Given the description of an element on the screen output the (x, y) to click on. 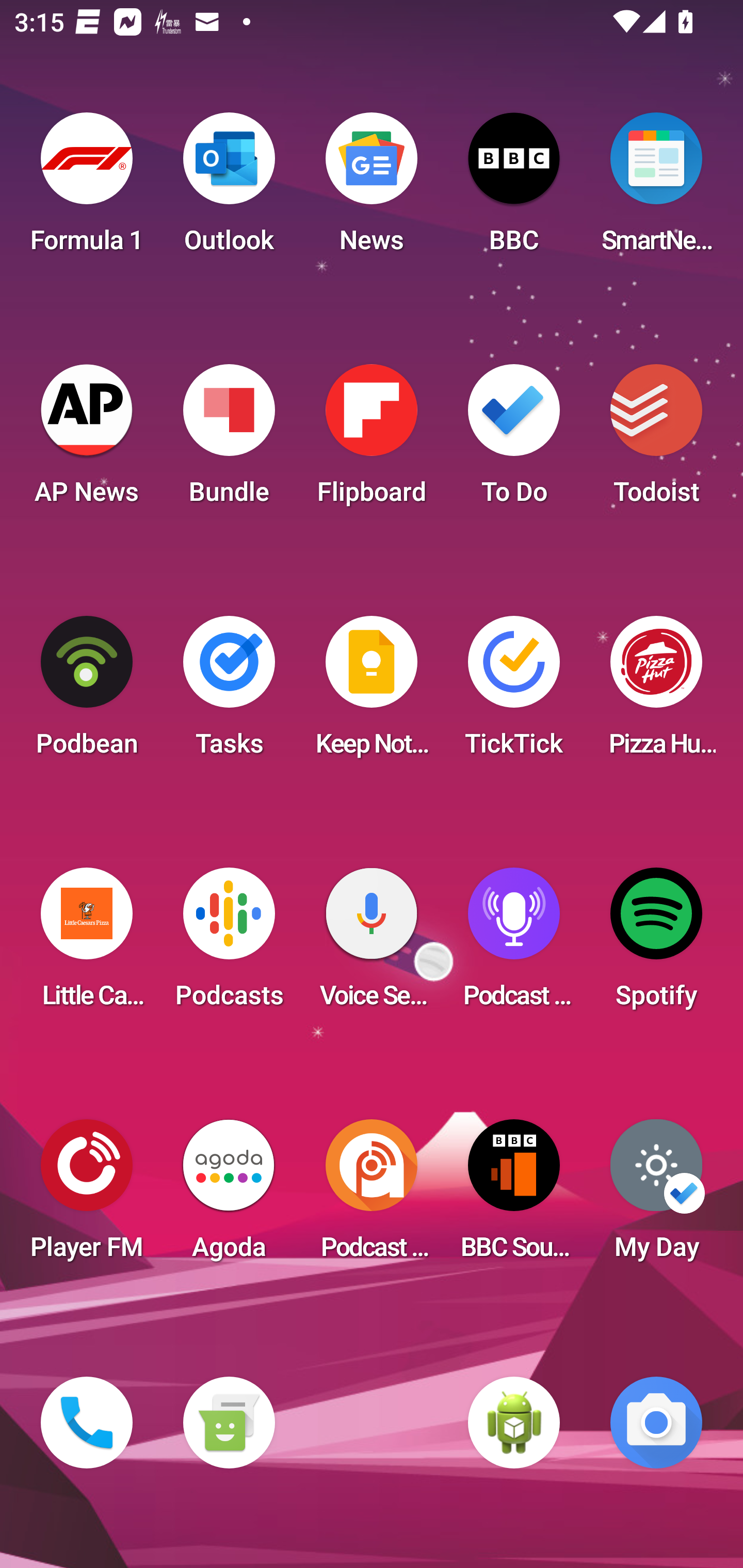
Formula 1 (86, 188)
Outlook (228, 188)
News (371, 188)
BBC (513, 188)
SmartNews (656, 188)
AP News (86, 440)
Bundle (228, 440)
Flipboard (371, 440)
To Do (513, 440)
Todoist (656, 440)
Podbean (86, 692)
Tasks (228, 692)
Keep Notes (371, 692)
TickTick (513, 692)
Pizza Hut HK & Macau (656, 692)
Little Caesars Pizza (86, 943)
Podcasts (228, 943)
Voice Search (371, 943)
Podcast Player (513, 943)
Spotify (656, 943)
Player FM (86, 1195)
Agoda (228, 1195)
Podcast Addict (371, 1195)
BBC Sounds (513, 1195)
My Day (656, 1195)
Phone (86, 1422)
Messaging (228, 1422)
WebView Browser Tester (513, 1422)
Camera (656, 1422)
